Given the description of an element on the screen output the (x, y) to click on. 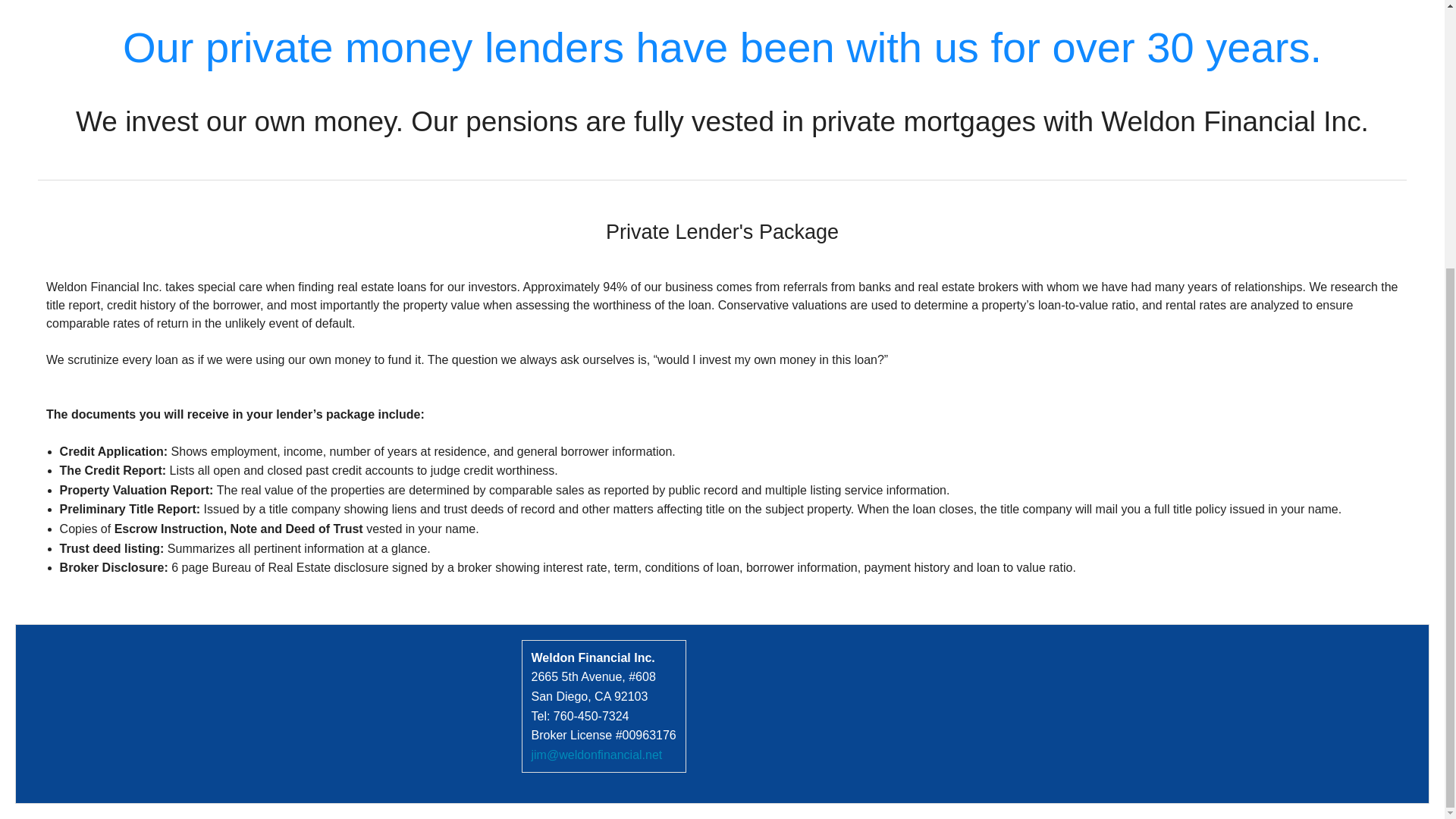
About Hard Money Loans (721, 21)
Loan Application (721, 106)
Contact Us (721, 63)
